Given the description of an element on the screen output the (x, y) to click on. 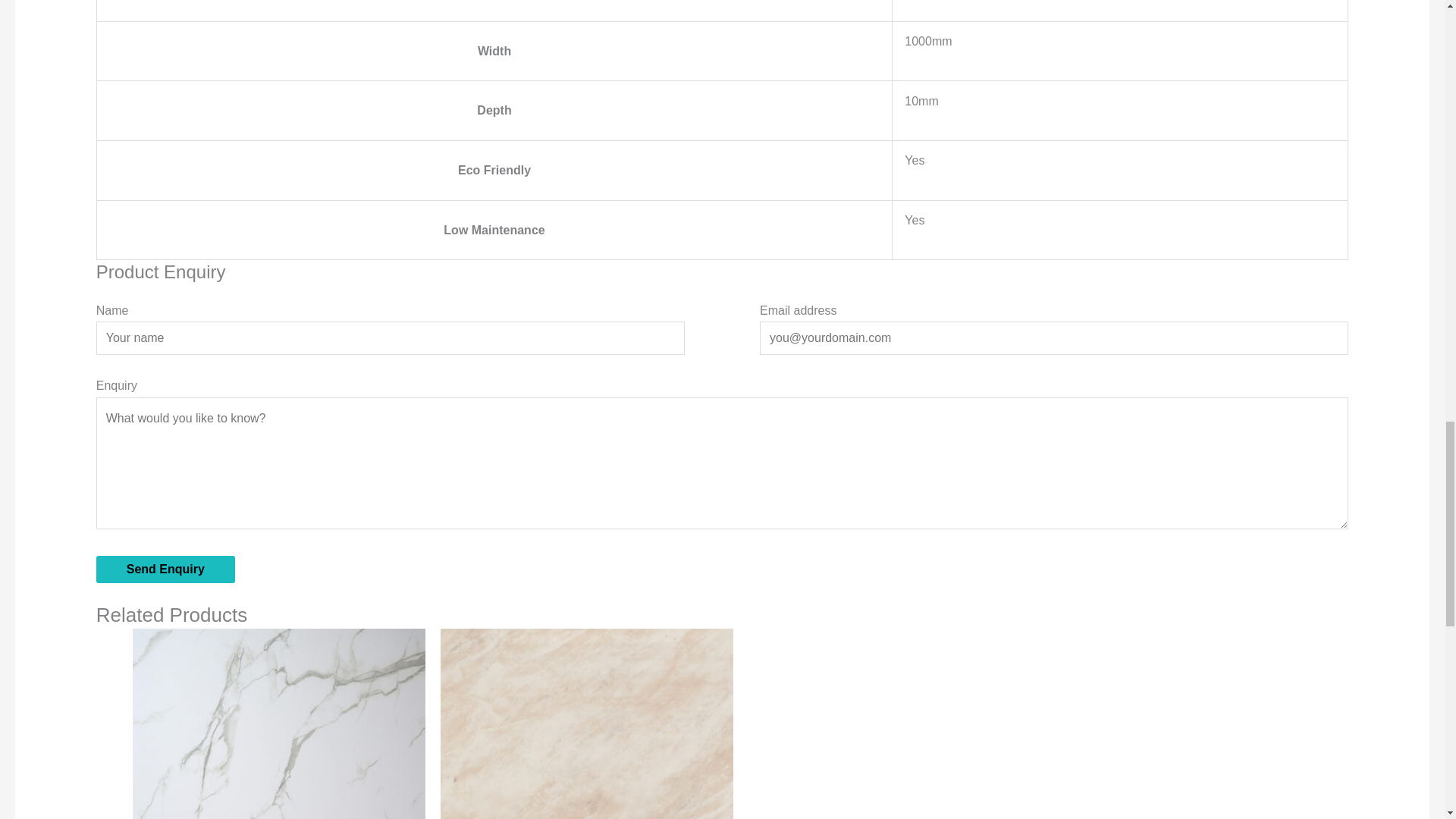
Send Enquiry (165, 569)
